Given the description of an element on the screen output the (x, y) to click on. 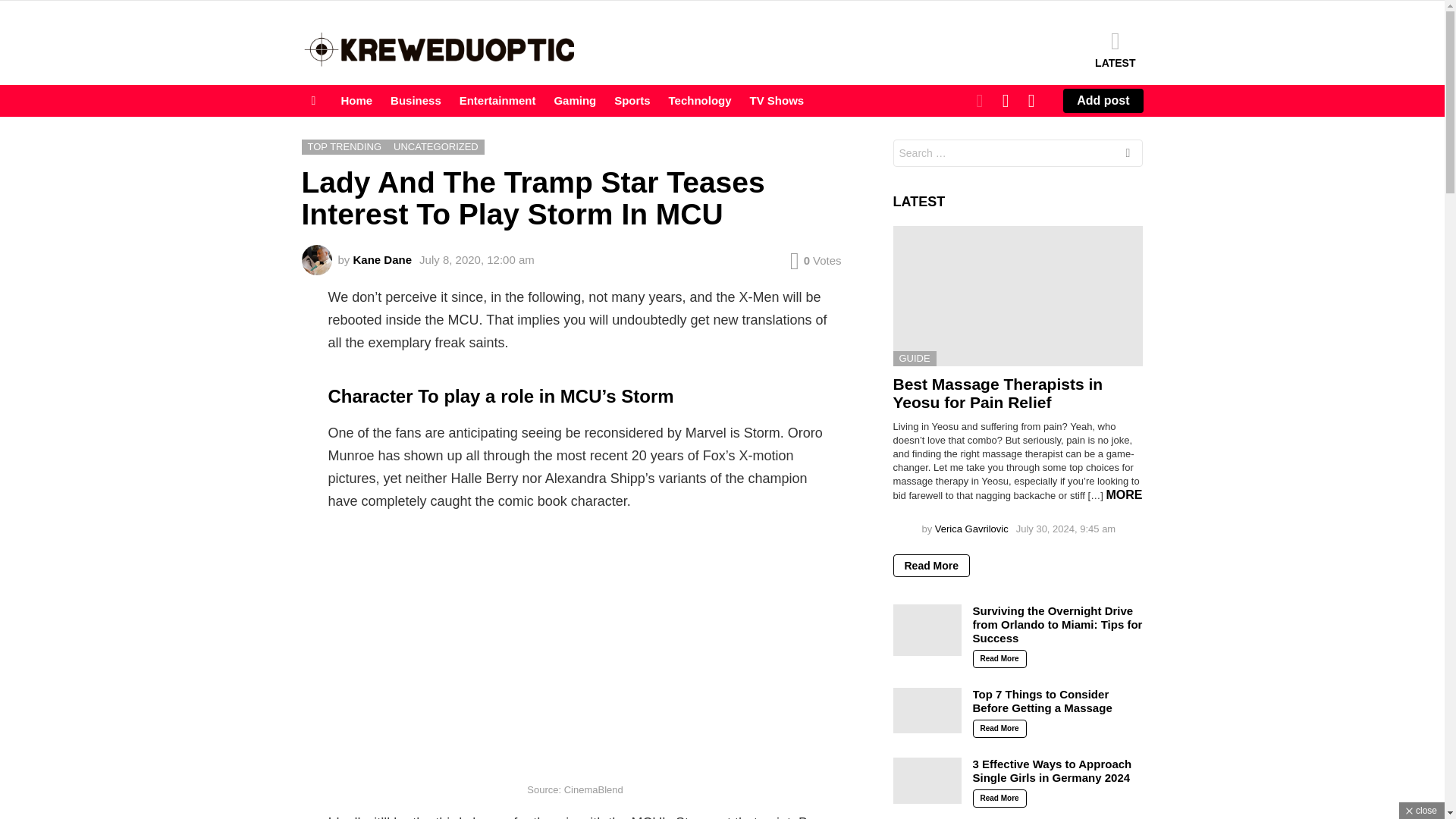
Home (356, 100)
Gaming (575, 100)
UNCATEGORIZED (435, 146)
LATEST (1114, 48)
Entertainment (497, 100)
Sports (632, 100)
Technology (700, 100)
Business (415, 100)
Posts by Kane Dane (382, 259)
TV Shows (777, 100)
